Given the description of an element on the screen output the (x, y) to click on. 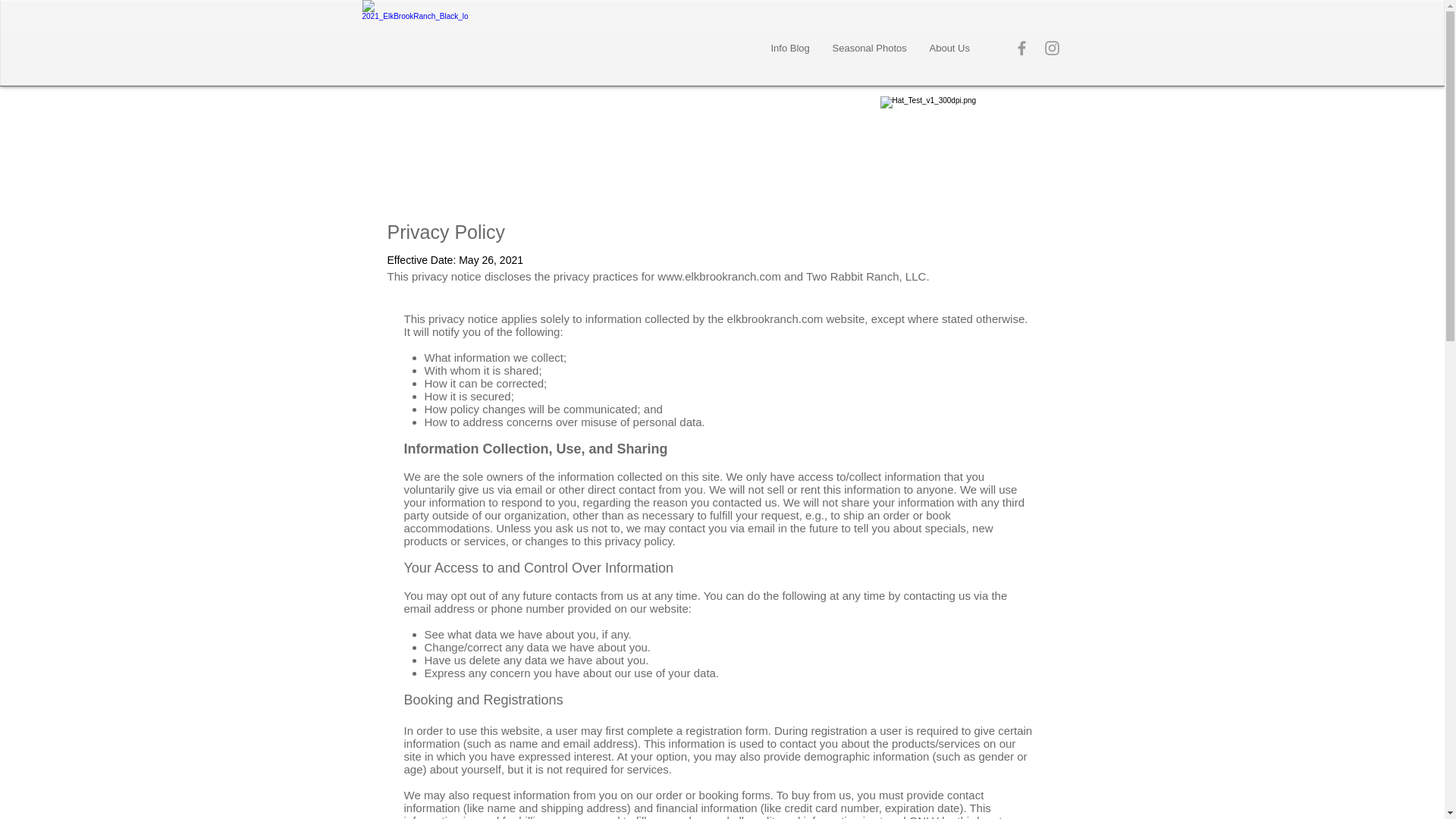
About Us (948, 48)
Info Blog (790, 48)
www.elkbrookranch.com (719, 276)
